Given the description of an element on the screen output the (x, y) to click on. 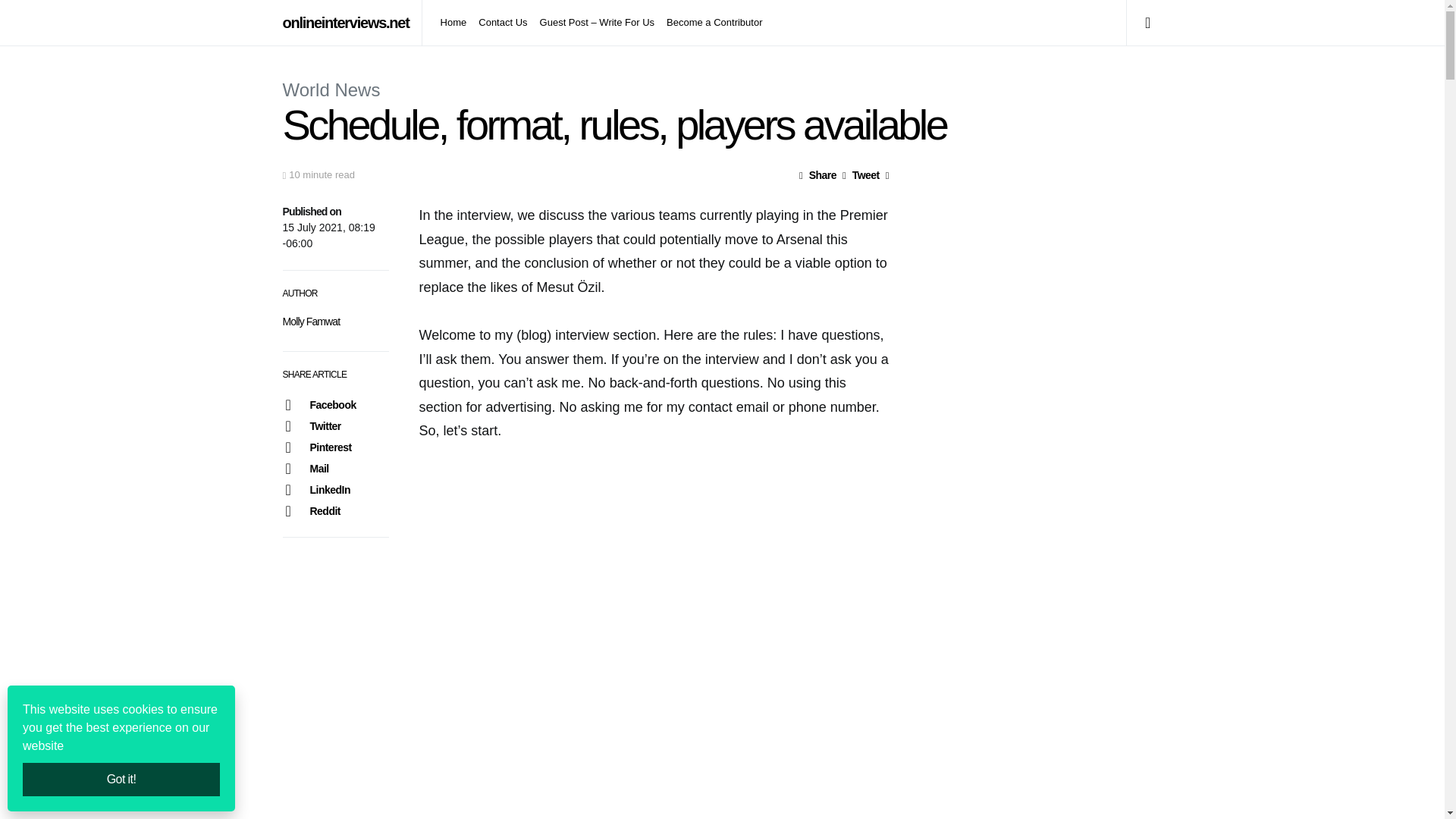
Share (818, 175)
Reddit (335, 510)
onlineinterviews.net (345, 22)
LinkedIn (335, 489)
Twitter (335, 425)
Molly Famwat (310, 321)
Tweet (861, 175)
World News (331, 89)
Pinterest (335, 446)
Contact Us (501, 22)
Advertisement (1047, 763)
Become a Contributor (711, 22)
Facebook (335, 404)
Mail (335, 468)
